Given the description of an element on the screen output the (x, y) to click on. 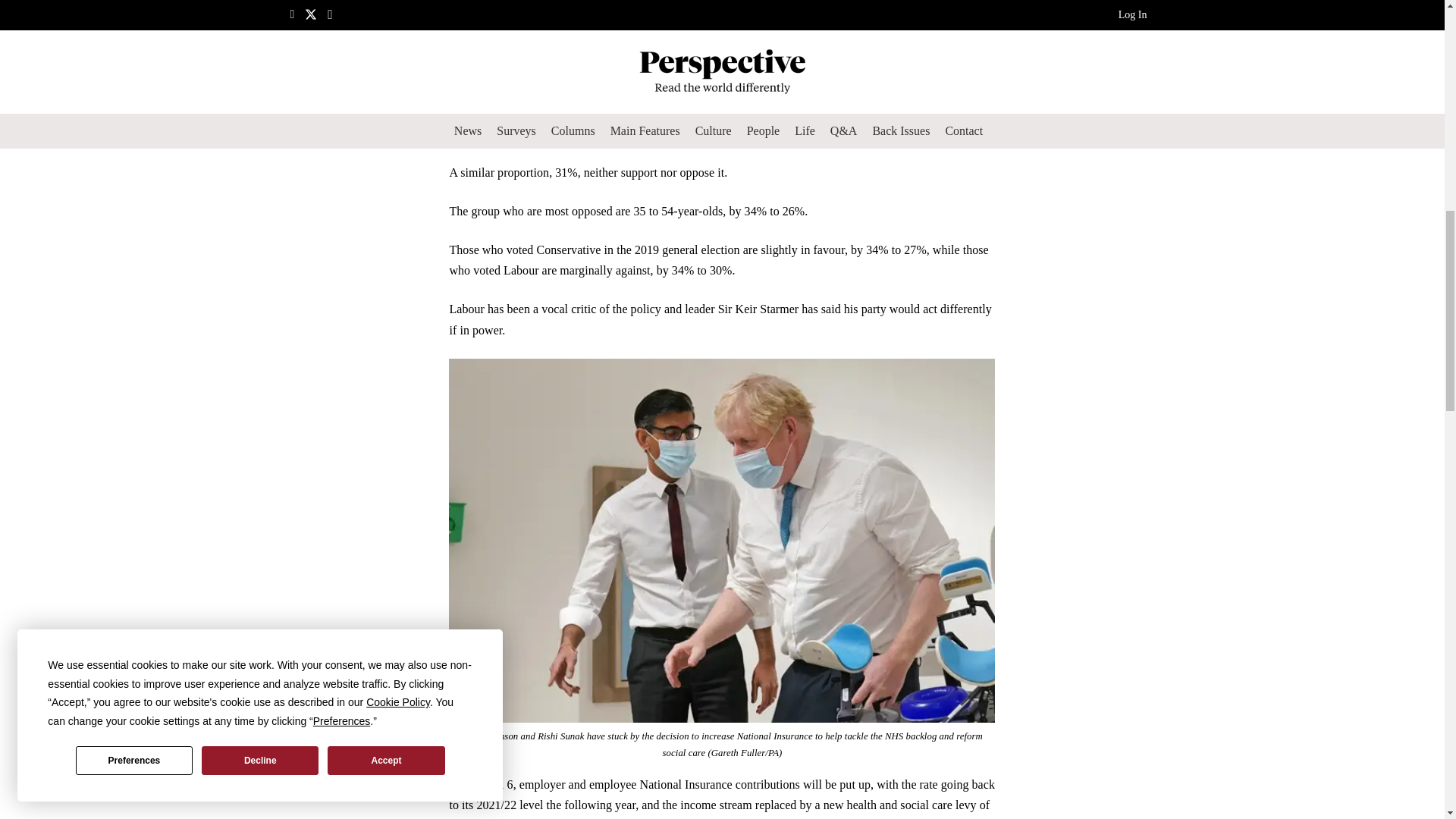
Back to top (1413, 26)
